Given the description of an element on the screen output the (x, y) to click on. 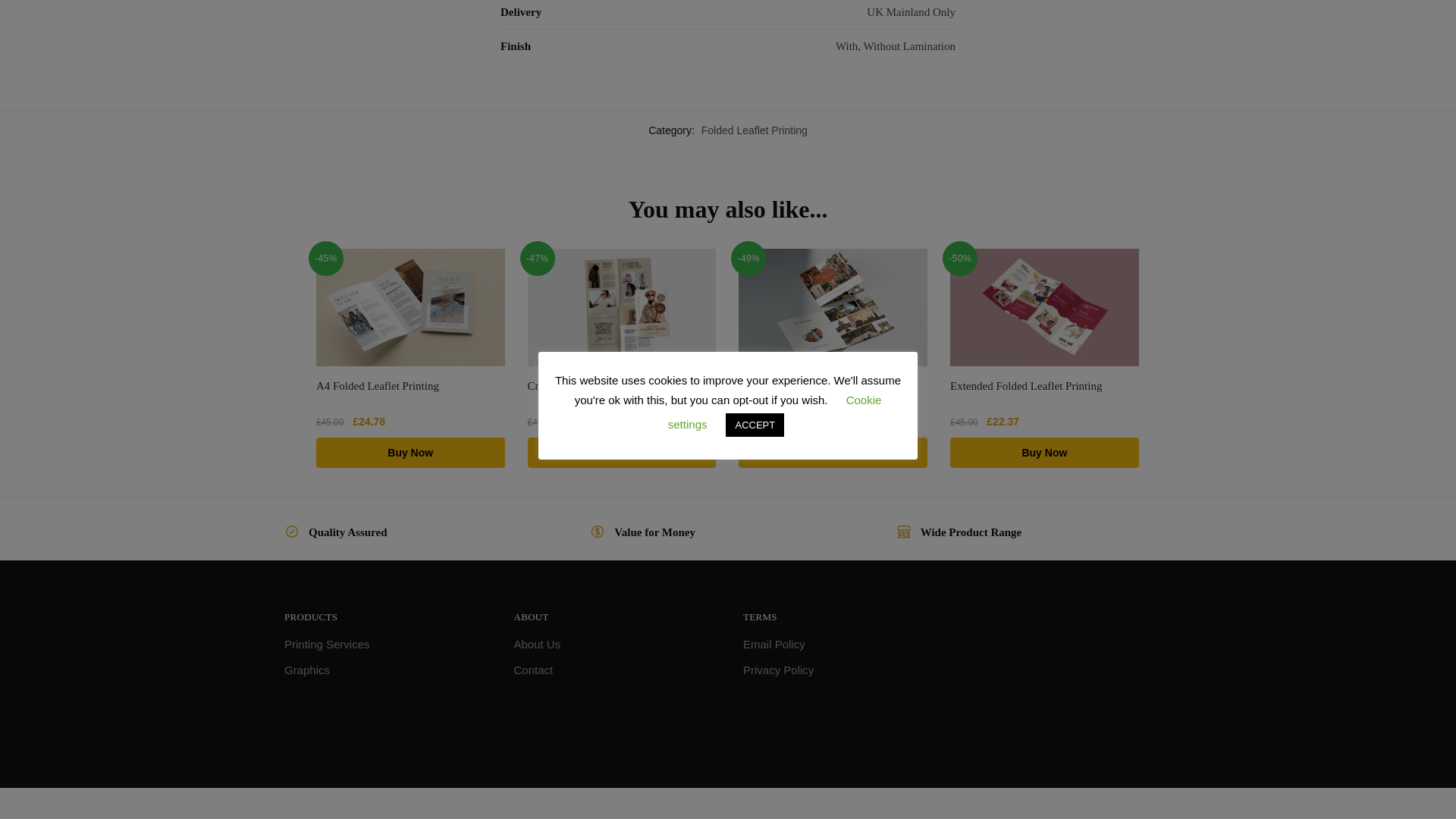
A4 Folded Leaflet Printing (410, 307)
